Given the description of an element on the screen output the (x, y) to click on. 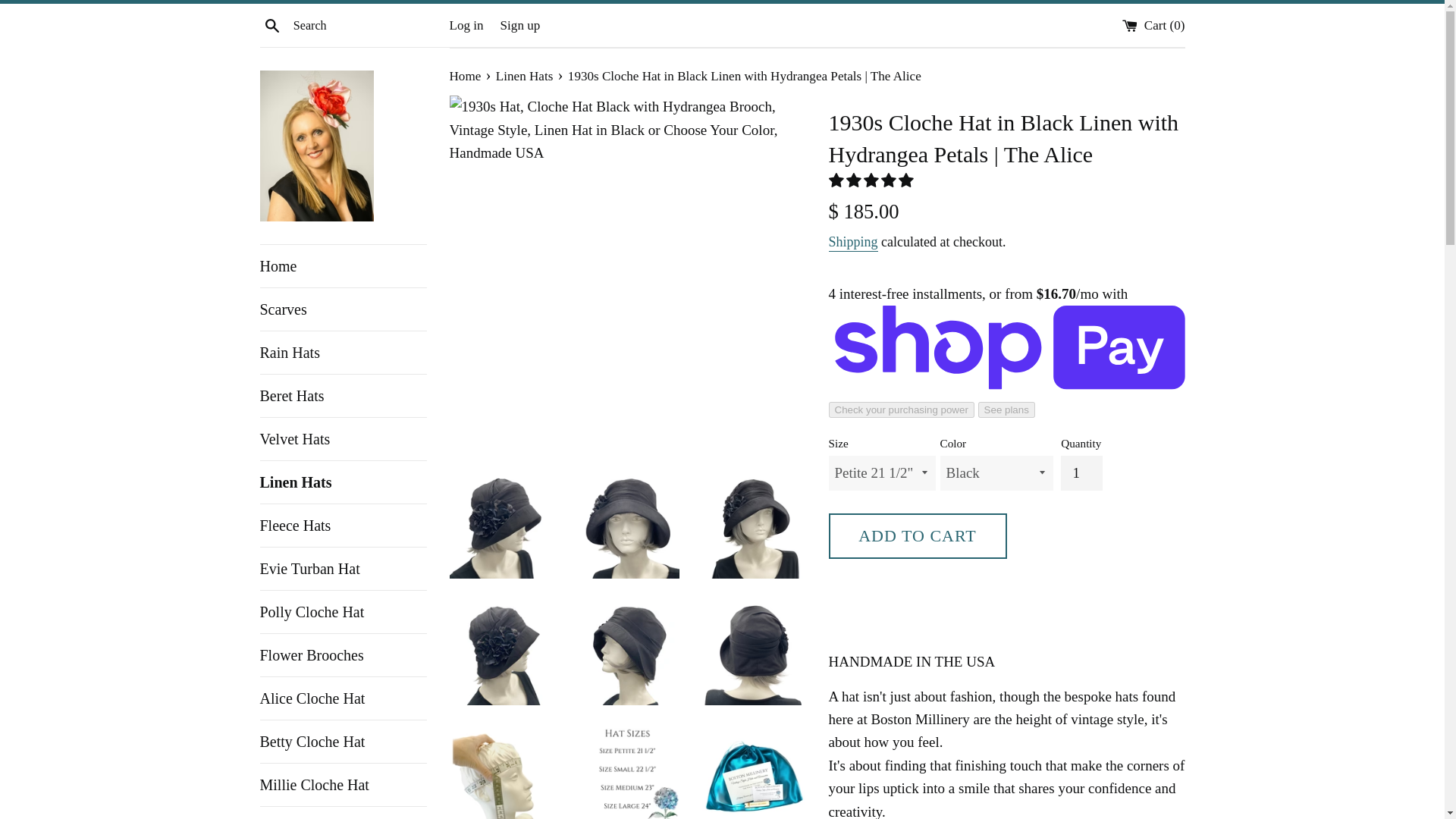
Evie Turban Hat (342, 568)
Rain Hats (342, 352)
Velvet Hats (342, 438)
Eleanor Cloche Hat (342, 812)
Log in (465, 25)
Flower Brooches (342, 654)
1 (1081, 472)
Linen Hats (526, 75)
Betty Cloche Hat (342, 741)
Polly Cloche Hat (342, 611)
